Given the description of an element on the screen output the (x, y) to click on. 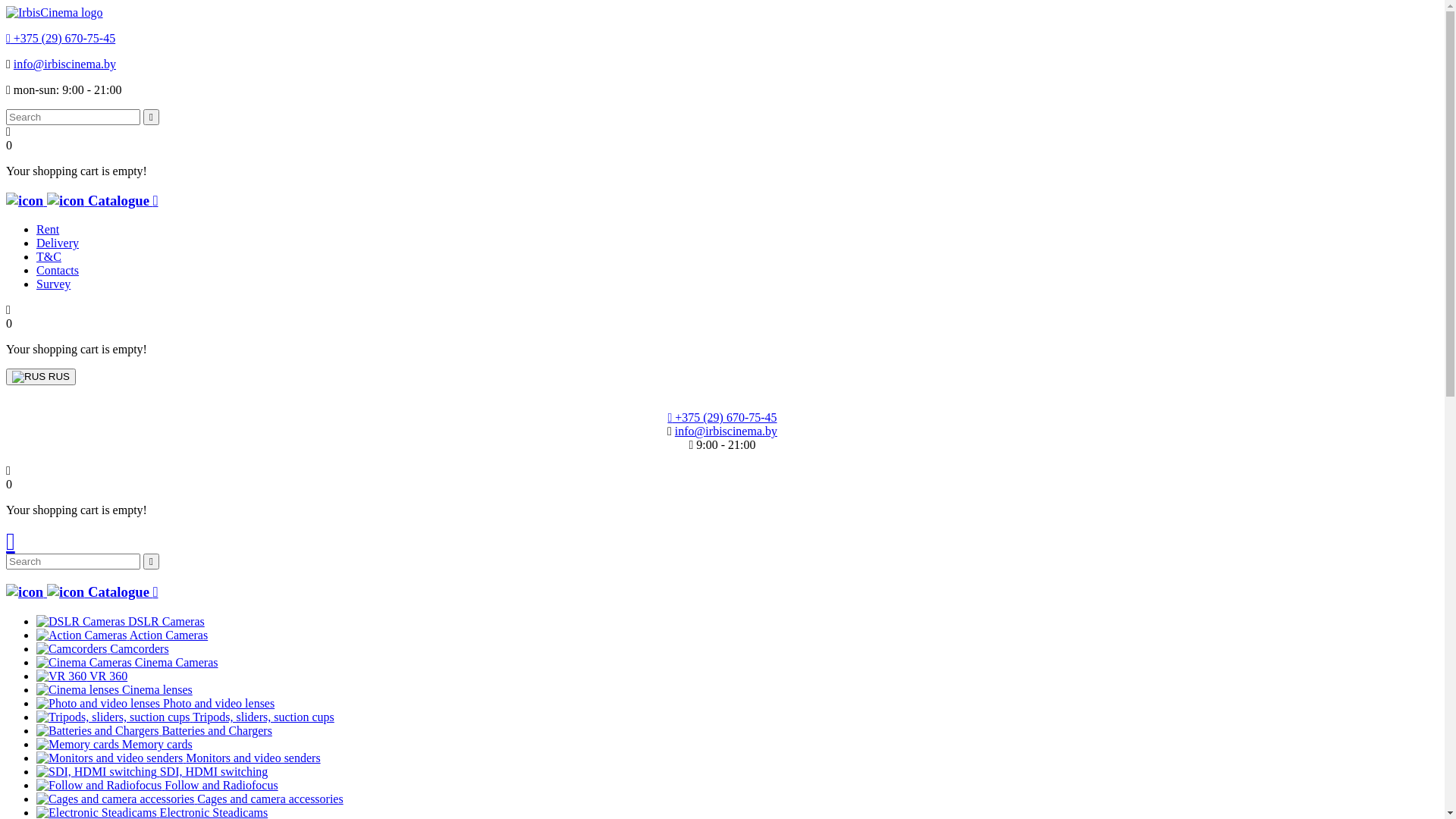
Rent Element type: text (47, 228)
Cinema Cameras Element type: text (127, 661)
VR 360 Element type: hover (61, 676)
T&C Element type: text (48, 256)
SDI, HDMI switching Element type: hover (96, 771)
 Batteries and Chargers Element type: hover (97, 730)
RUS Element type: text (40, 376)
Cages and camera accessories Element type: text (189, 798)
+375 (29) 670-75-45 Element type: text (721, 417)
0 Element type: text (9, 477)
Action Cameras Element type: hover (81, 635)
Cages and camera accessories Element type: hover (115, 799)
Contacts Element type: text (57, 269)
Delivery Element type: text (57, 242)
RUS Element type: hover (28, 376)
+375 (29) 670-75-45 Element type: text (60, 37)
DSLR Cameras Element type: hover (80, 621)
Photo and video lenses Element type: text (155, 702)
Catalogue Element type: text (81, 591)
0 Element type: text (9, 138)
Cinema lenses Element type: hover (77, 689)
Monitors and video senders Element type: hover (109, 758)
Follow and Radiofocus Element type: hover (98, 785)
info@irbiscinema.by Element type: text (64, 63)
Cinema Cameras Element type: hover (83, 662)
Catalogue Element type: text (81, 200)
SDI, HDMI switching Element type: text (151, 771)
info@irbiscinema.by Element type: text (725, 430)
Tripods, sliders, suction cups Element type: text (185, 716)
Camcorders Element type: text (102, 648)
Monitors and video senders Element type: text (178, 757)
Tripods, sliders, suction cups Element type: hover (113, 717)
0 Element type: text (9, 316)
Camcorders Element type: hover (71, 648)
VR 360 Element type: text (81, 675)
DSLR Cameras Element type: text (120, 621)
Survey Element type: text (53, 283)
Batteries and Chargers Element type: text (154, 730)
Memory cards Element type: hover (77, 744)
Cinema lenses Element type: text (114, 689)
Photo and video lenses Element type: hover (98, 703)
Action Cameras Element type: text (121, 634)
Memory cards Element type: text (114, 743)
Follow and Radiofocus Element type: text (157, 784)
